Given the description of an element on the screen output the (x, y) to click on. 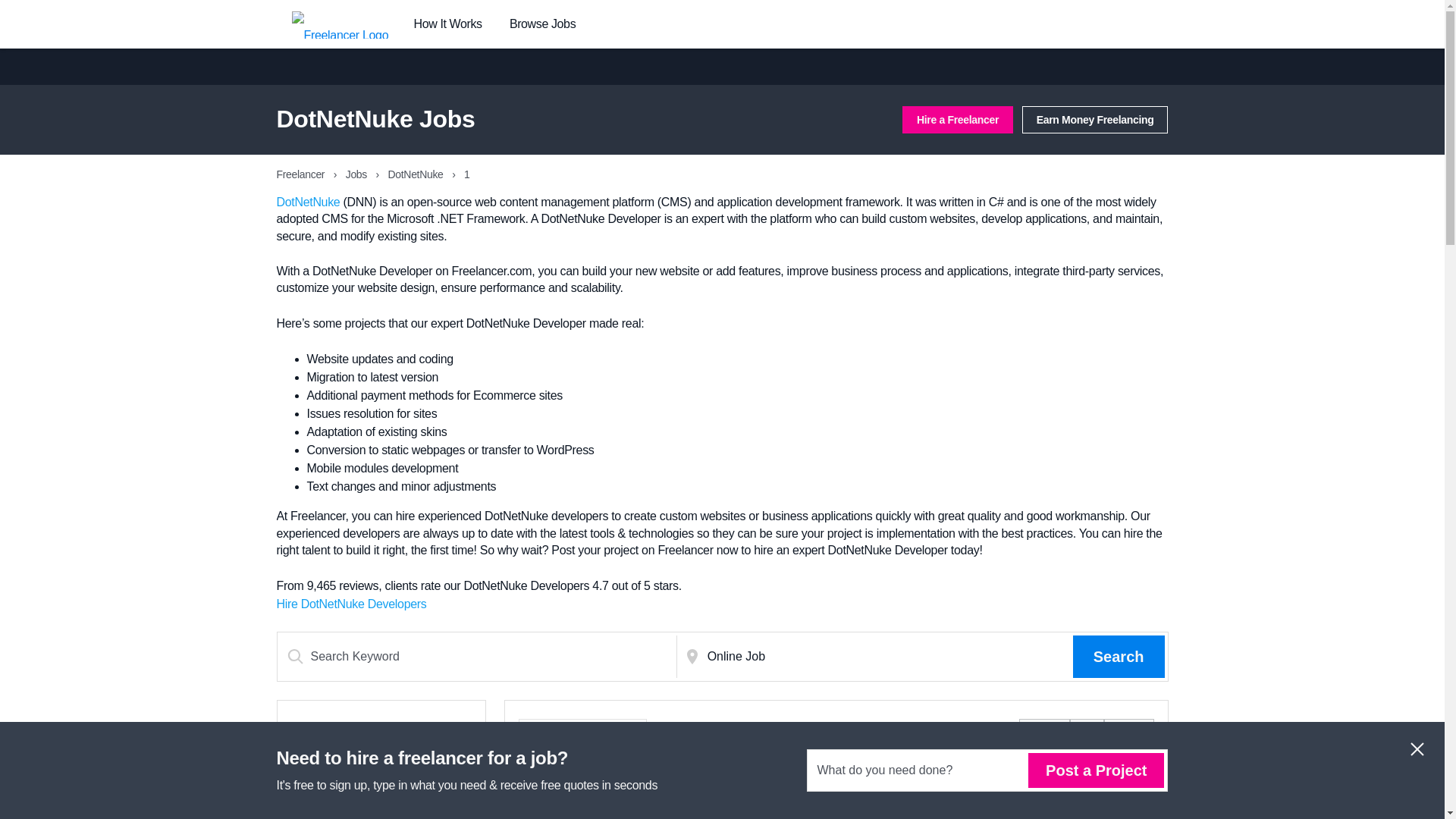
1 (1086, 732)
DotNetNuke (417, 174)
Online Job (887, 656)
Browse Jobs (542, 24)
Freelancer (301, 174)
Tech Stack Interviewers Needed (611, 791)
Hire DotNetNuke Developers (351, 603)
Online Job (887, 656)
How It Works (447, 24)
Hire a Freelancer (957, 119)
